Given the description of an element on the screen output the (x, y) to click on. 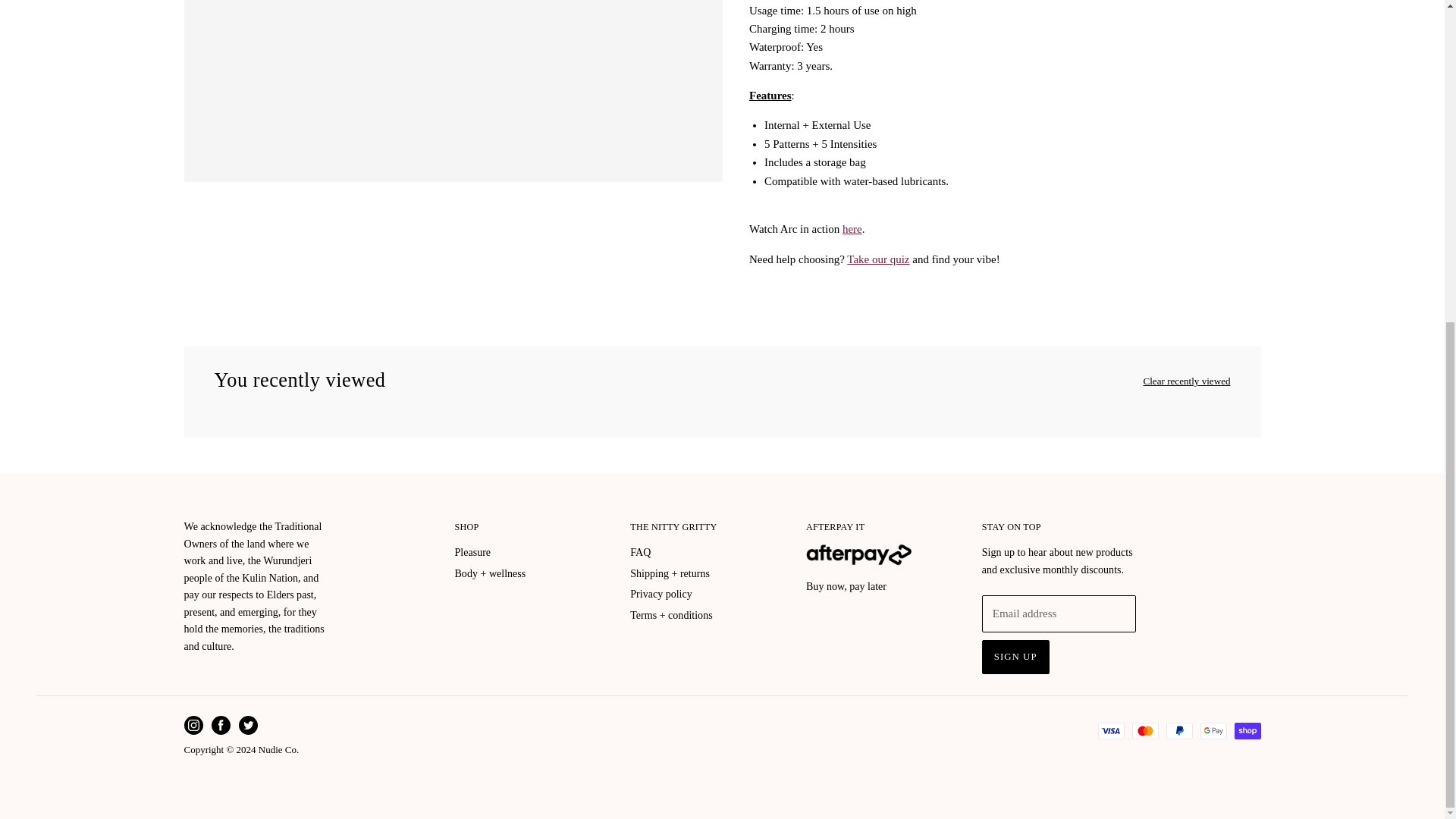
Twitter (248, 726)
Nudie Co quiz - Find your vibe (877, 259)
Facebook (221, 726)
Instagram (194, 726)
